Given the description of an element on the screen output the (x, y) to click on. 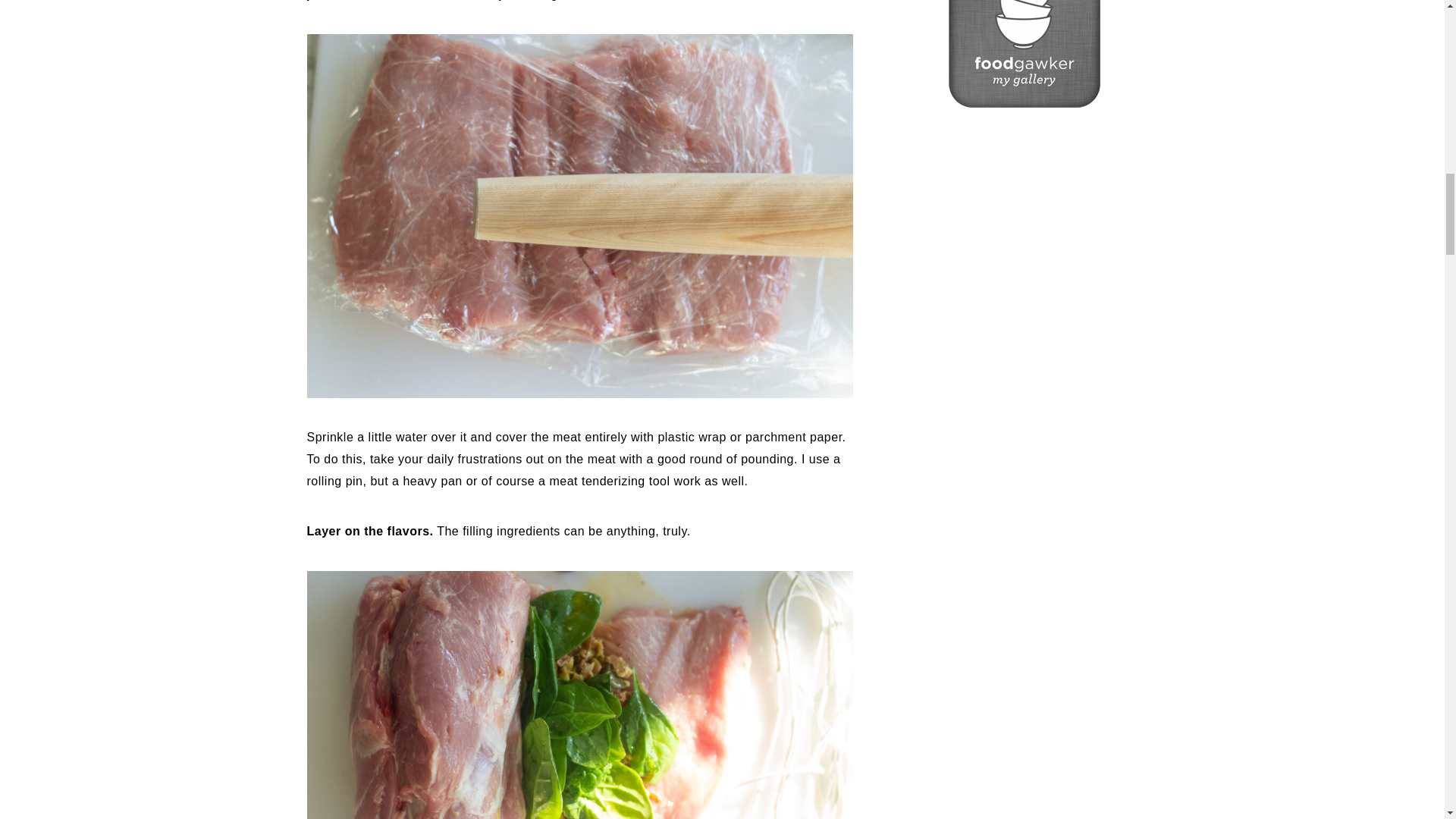
my foodgawker gallery (1023, 103)
